Given the description of an element on the screen output the (x, y) to click on. 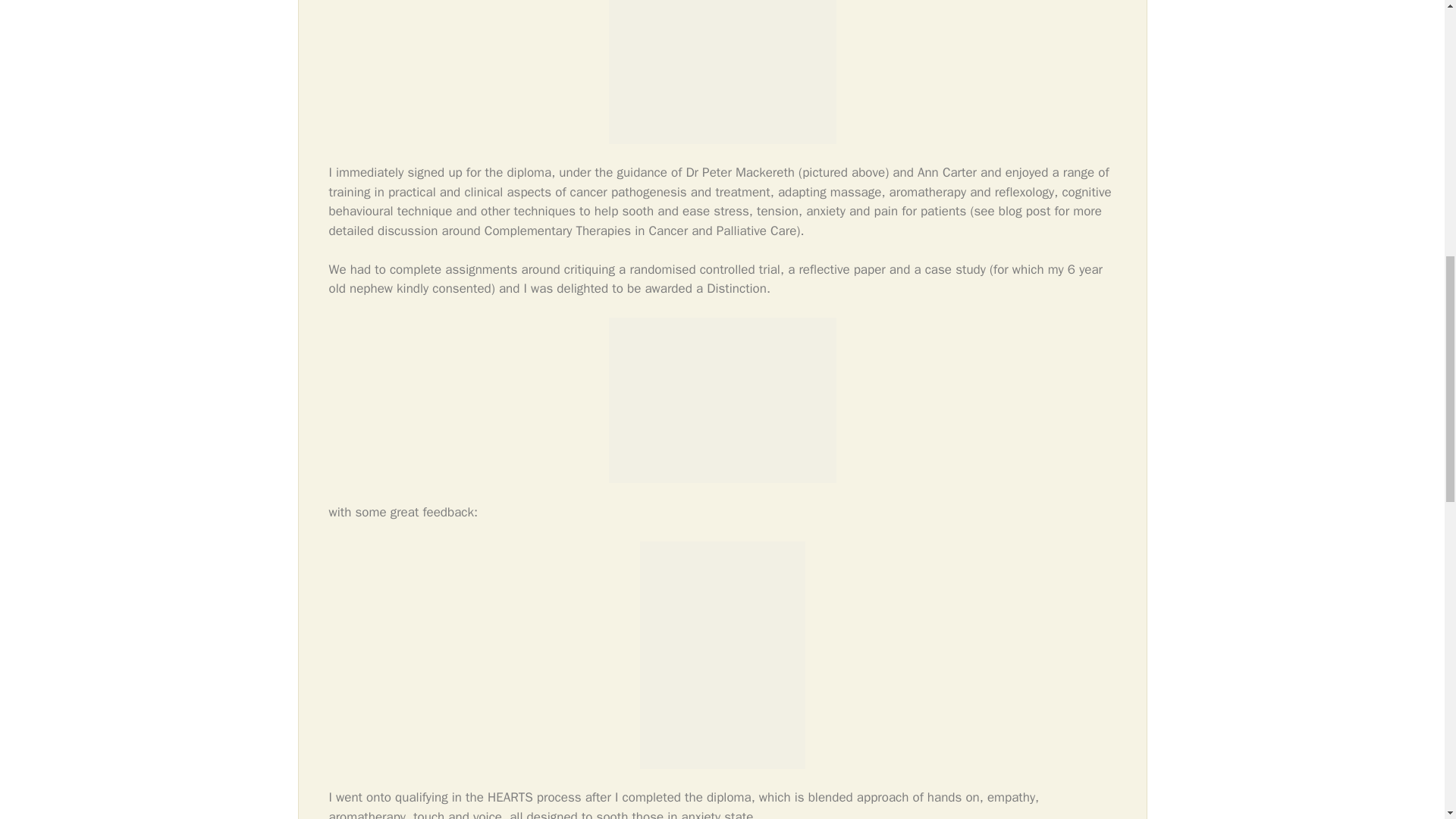
Scroll back to top (1406, 720)
